Given the description of an element on the screen output the (x, y) to click on. 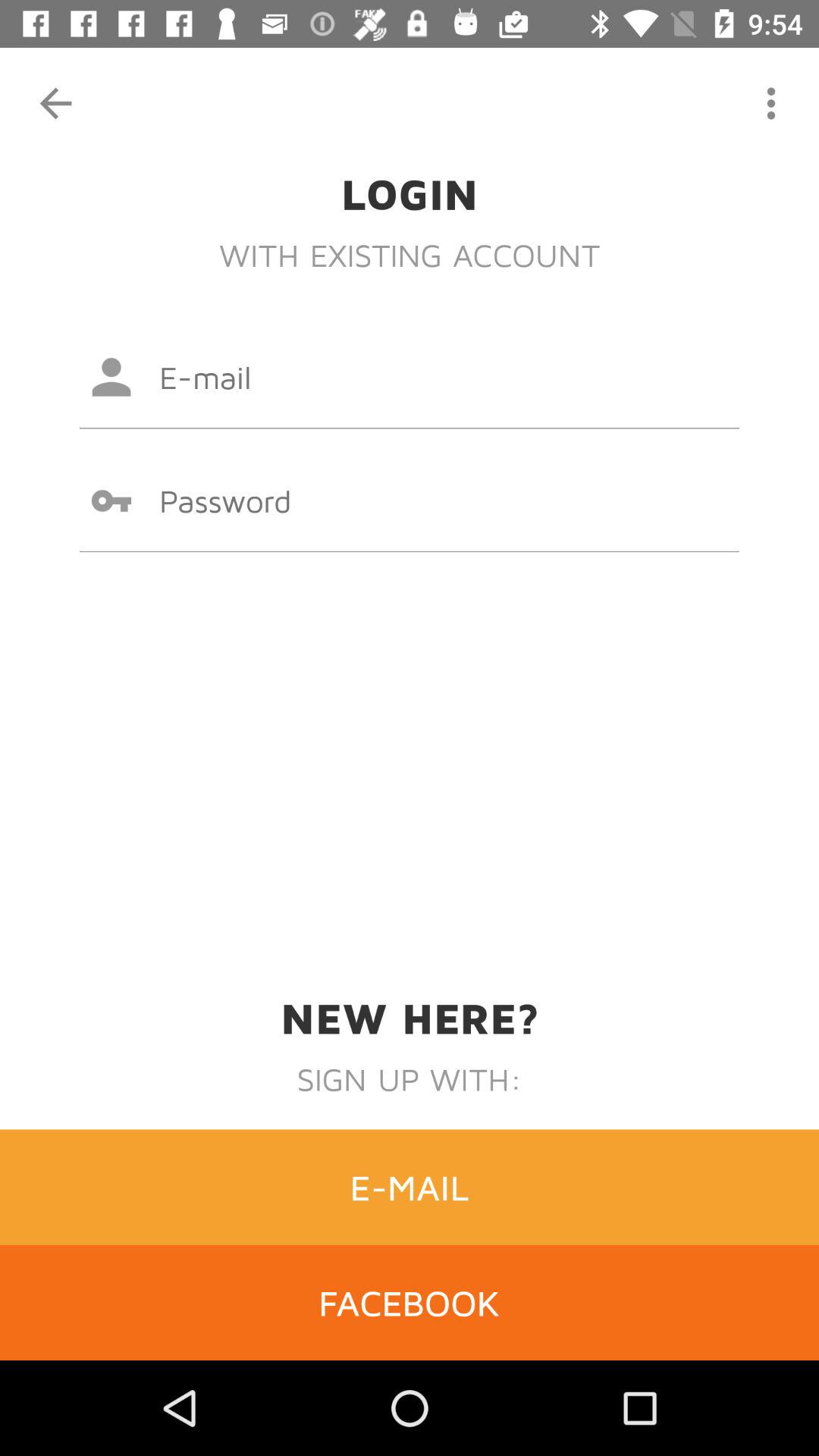
click icon at the top left corner (55, 103)
